Given the description of an element on the screen output the (x, y) to click on. 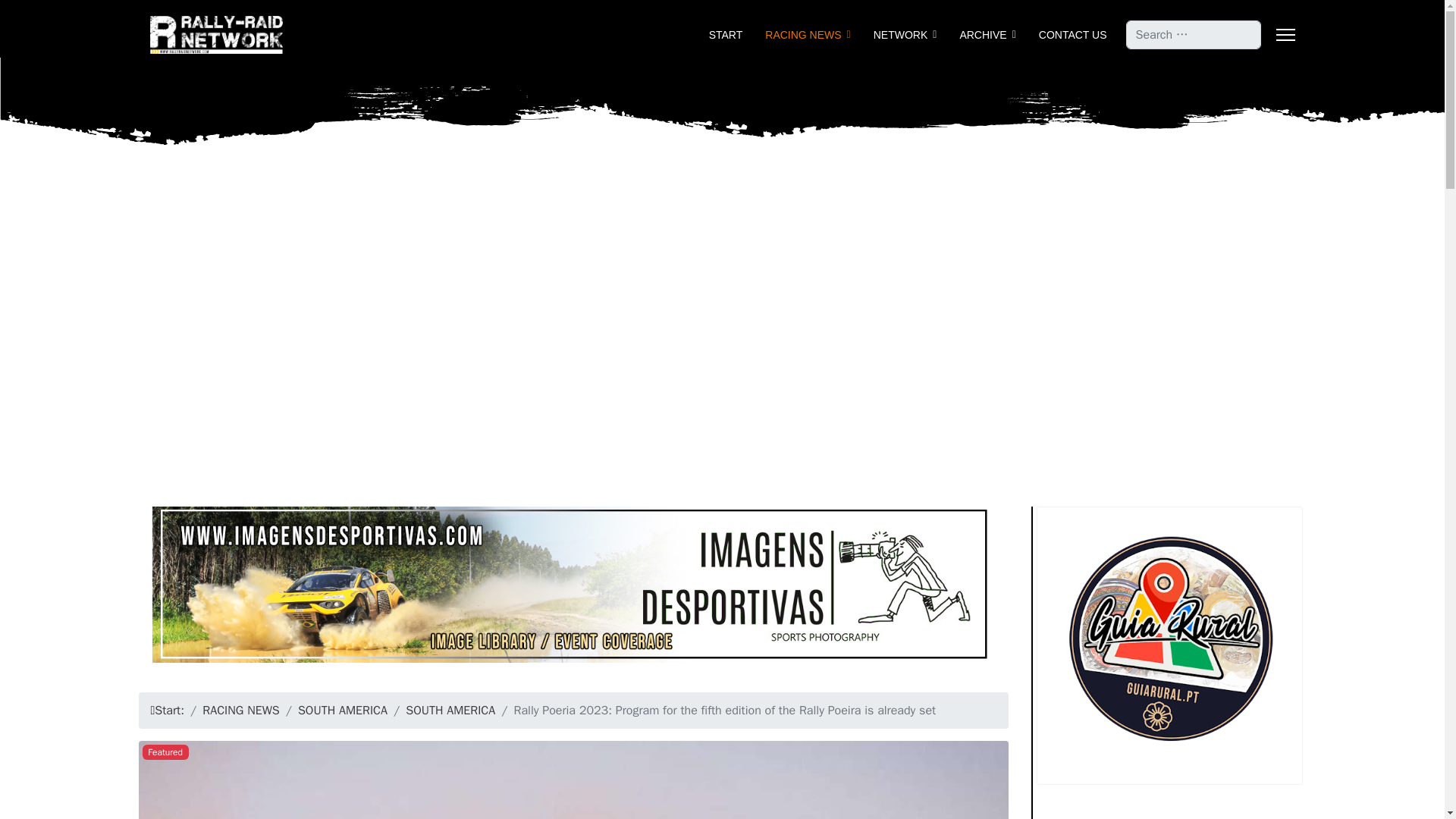
ARCHIVE (986, 34)
Start: (169, 710)
CONTACT US (1066, 34)
RACING NEWS (807, 34)
NETWORK (905, 34)
START (725, 34)
SOUTH AMERICA (342, 710)
SOUTH AMERICA (450, 710)
RACING NEWS (240, 710)
